Given the description of an element on the screen output the (x, y) to click on. 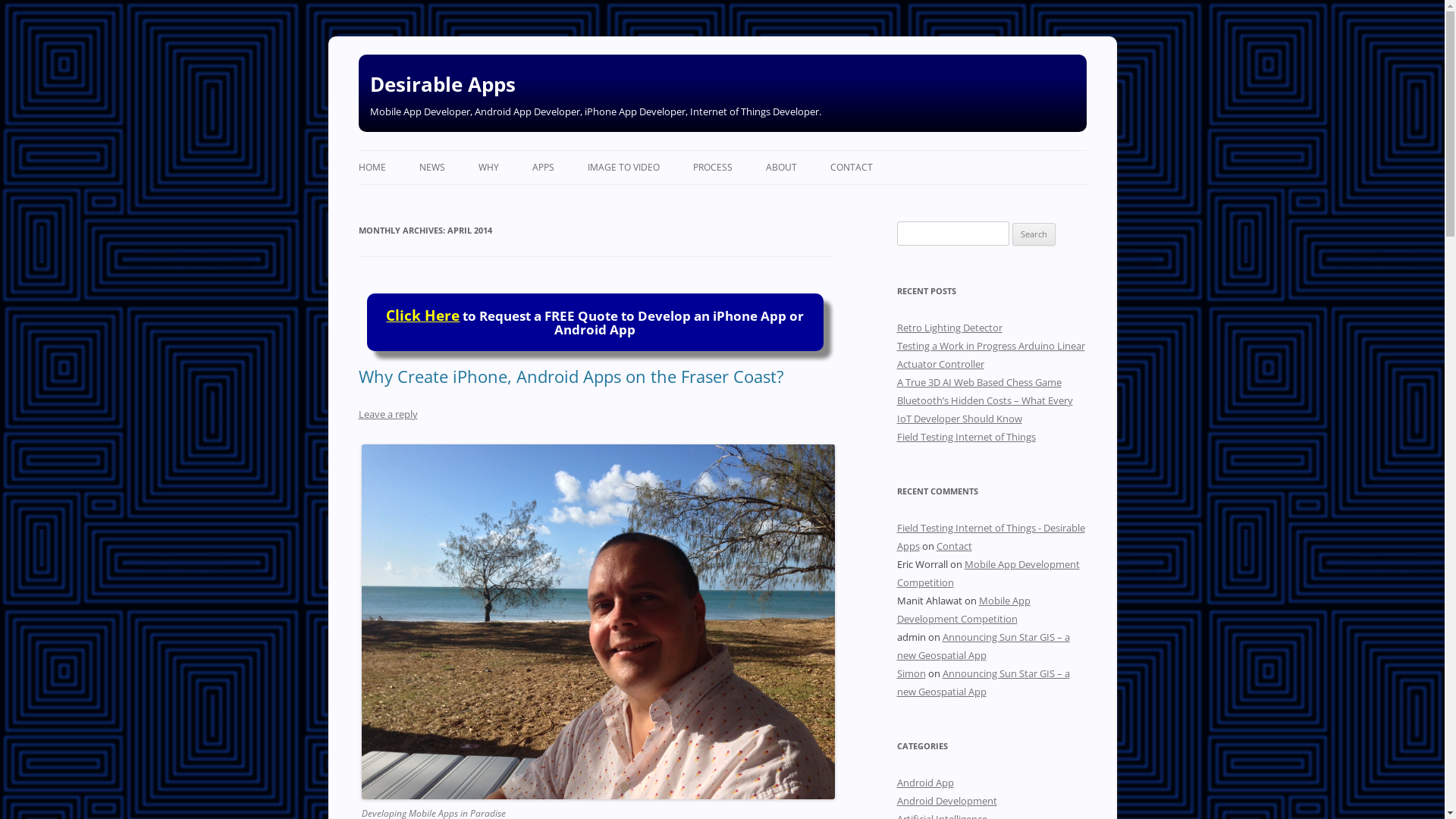
WHY Element type: text (487, 167)
Field Testing Internet of Things - Desirable Apps Element type: text (990, 536)
Contact Element type: text (953, 545)
Mobile App Development Competition Element type: text (962, 609)
Skip to content Element type: text (721, 150)
Desirable Apps Element type: text (442, 83)
Android Development Element type: text (946, 800)
APPS Element type: text (543, 167)
Why Create iPhone, Android Apps on the Fraser Coast? Element type: text (570, 375)
CONTACT Element type: text (850, 167)
IMAGE TO VIDEO Element type: text (622, 167)
A True 3D AI Web Based Chess Game Element type: text (978, 382)
Simon Element type: text (910, 673)
Click Here Element type: text (422, 314)
Field Testing Internet of Things Element type: text (965, 436)
NEWS Element type: text (431, 167)
Retro Lighting Detector Element type: text (948, 327)
ABOUT Element type: text (781, 167)
Mobile App Development Competition Element type: text (987, 573)
Leave a reply Element type: text (387, 413)
Android App Element type: text (924, 782)
PROCESS Element type: text (712, 167)
Search Element type: text (1033, 233)
HOME Element type: text (371, 167)
